Given the description of an element on the screen output the (x, y) to click on. 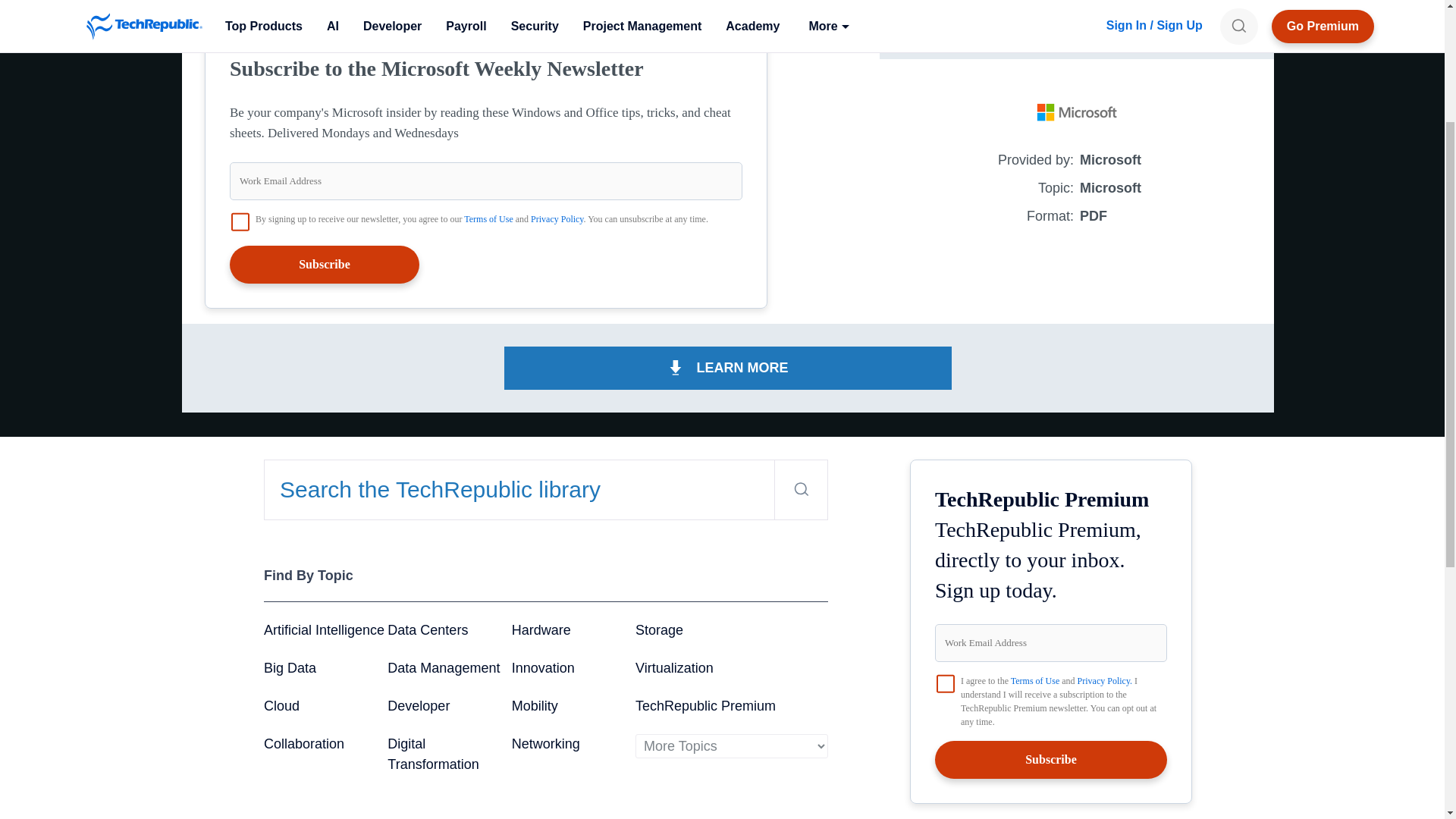
Privacy Policy (557, 218)
Subscribe (324, 264)
LEARN MORE (1077, 22)
Terms of Use (488, 218)
Artificial Intelligence (323, 630)
on (239, 221)
LEARN MORE (727, 367)
on (945, 683)
